Given the description of an element on the screen output the (x, y) to click on. 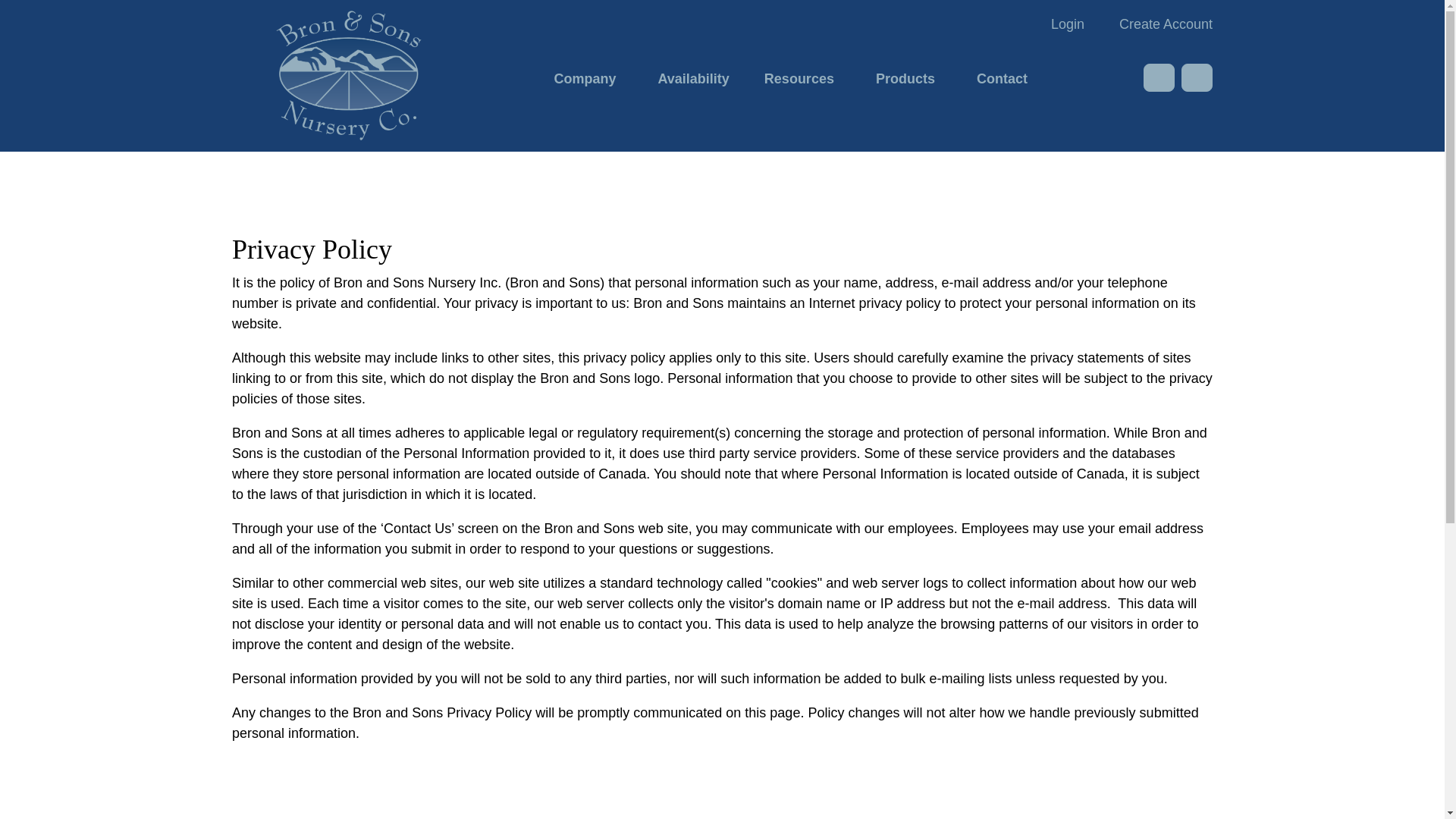
Products (908, 77)
Create Account (1158, 23)
Login (1066, 23)
Company (588, 77)
Contact (1001, 77)
Resources (802, 77)
Availability (692, 77)
